Given the description of an element on the screen output the (x, y) to click on. 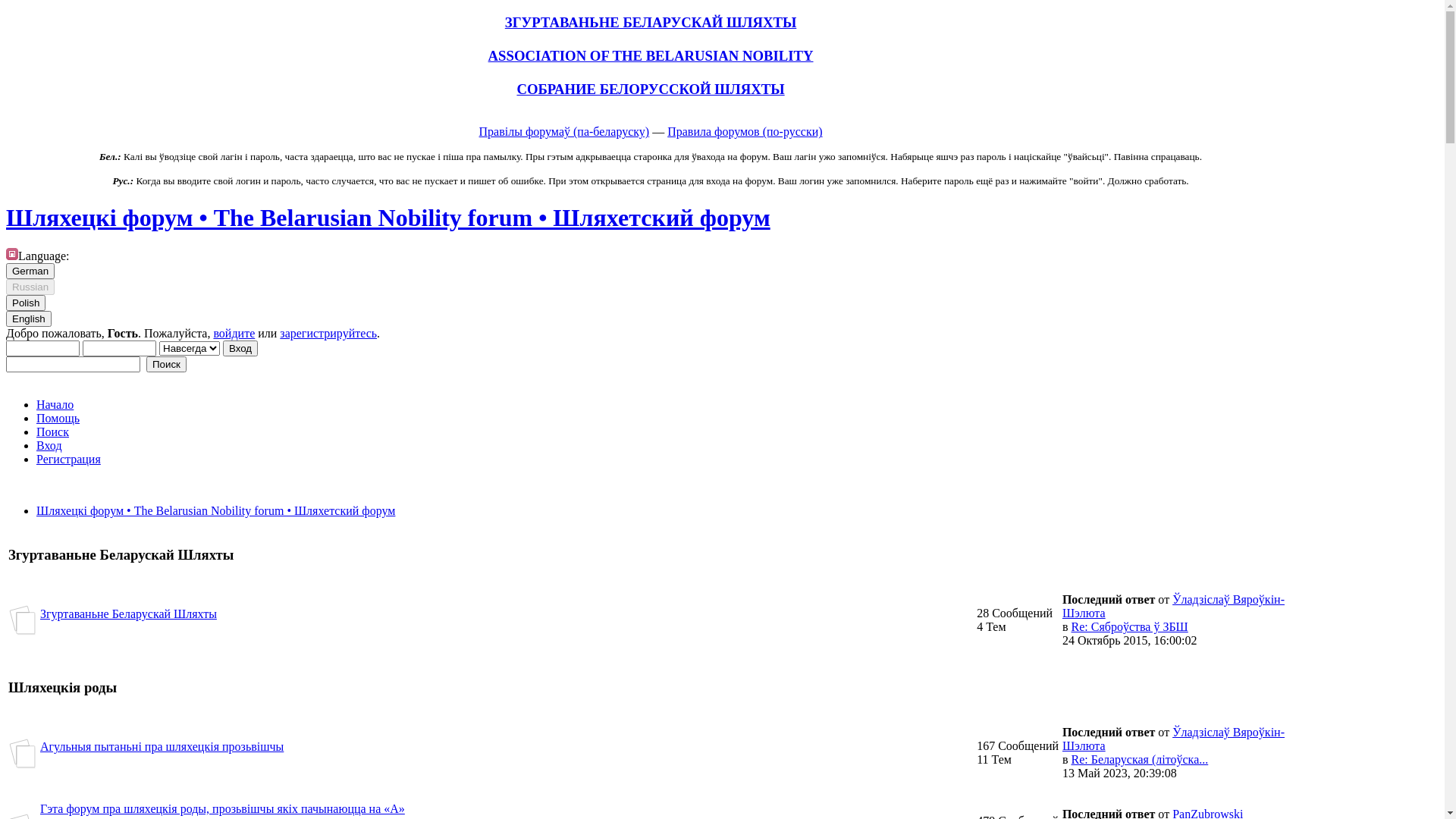
English Element type: text (28, 318)
ASSOCIATION OF THE BELARUSIAN NOBILITY Element type: text (650, 55)
Russian Element type: text (30, 286)
Polish Element type: text (25, 302)
German Element type: text (30, 271)
